Given the description of an element on the screen output the (x, y) to click on. 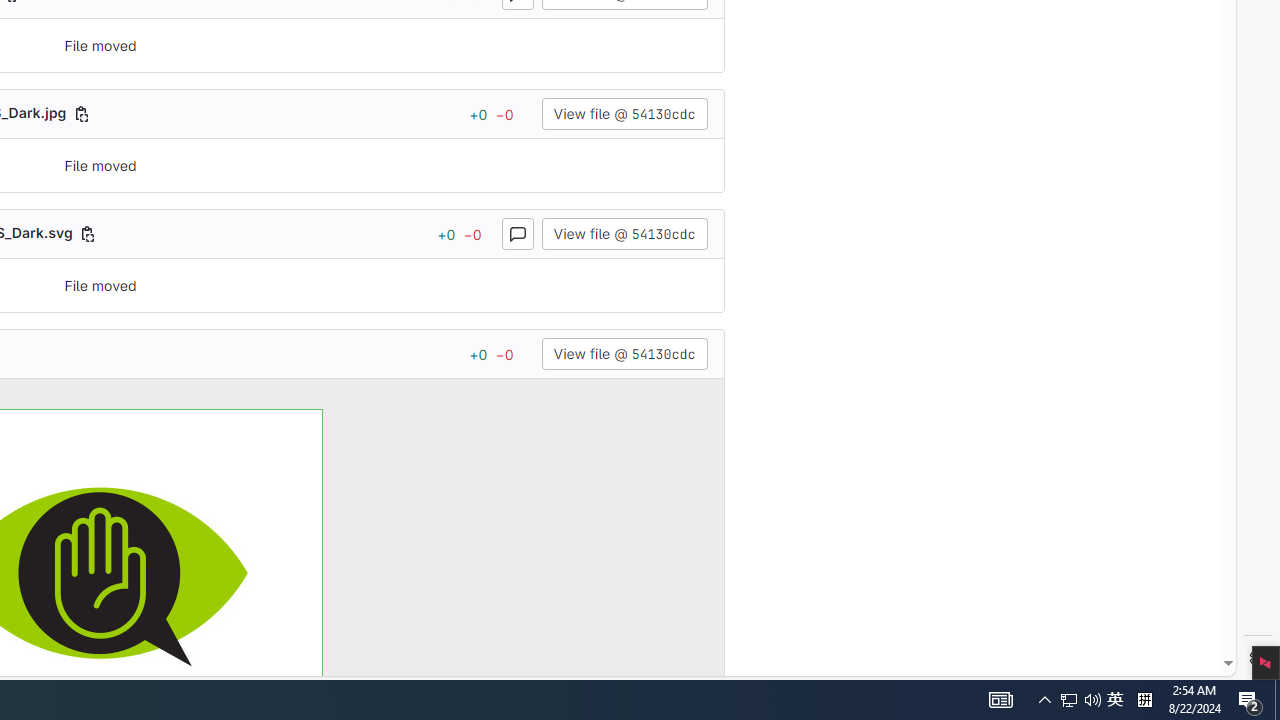
View file @ 54130cdc (624, 353)
Toggle comments for this file (516, 234)
Copy file path (88, 233)
Class: s16 gl-icon gl-button-icon  (517, 234)
